Given the description of an element on the screen output the (x, y) to click on. 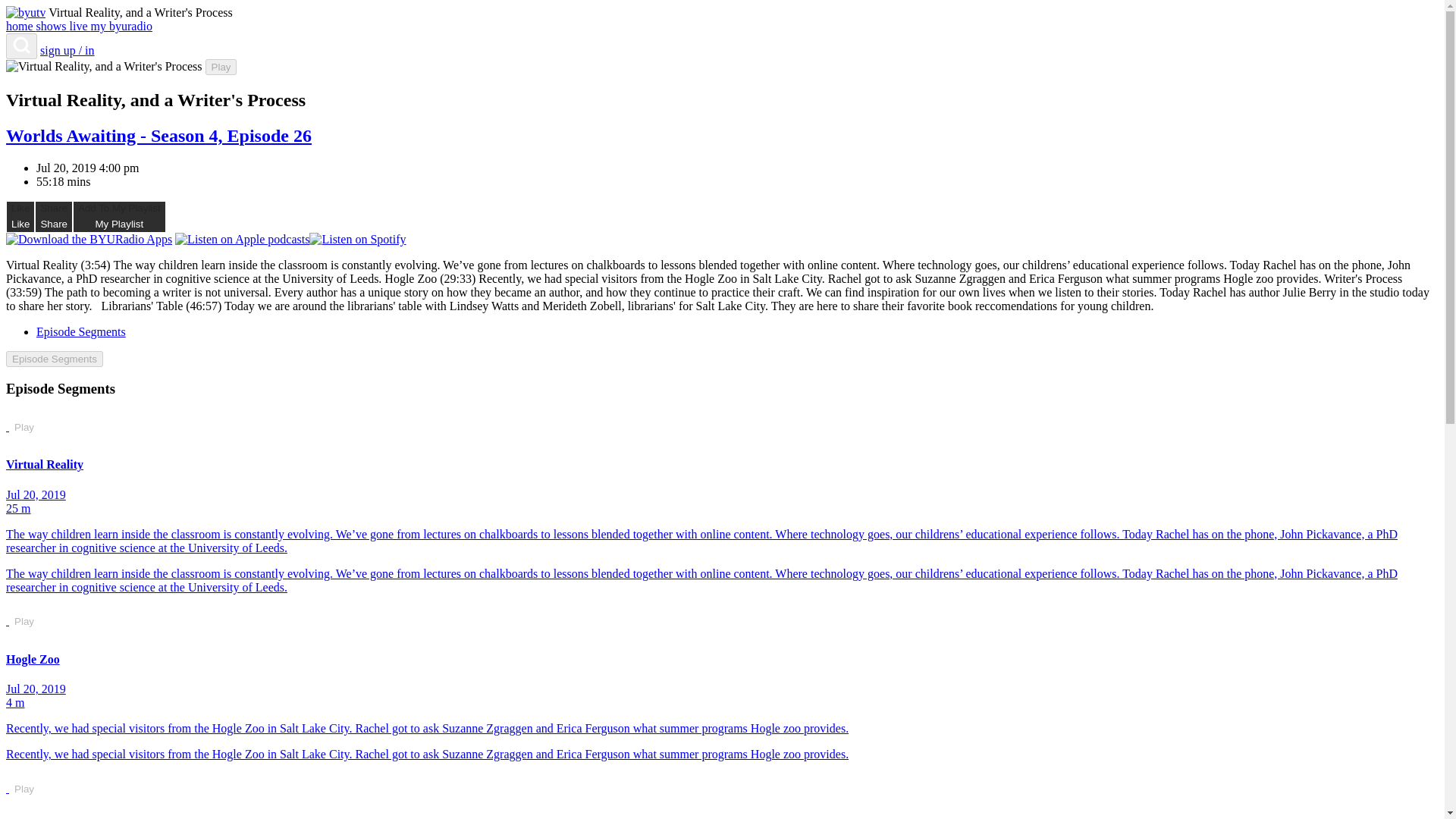
Listen on Apple podcasts (241, 239)
Listen on Spotify (357, 239)
Play (23, 426)
live (118, 216)
Play (79, 25)
Play (23, 621)
my byuradio (221, 66)
home (121, 25)
Episode Segments (20, 25)
Play (53, 216)
shows (54, 358)
Download the BYURadio Apps (221, 66)
